Given the description of an element on the screen output the (x, y) to click on. 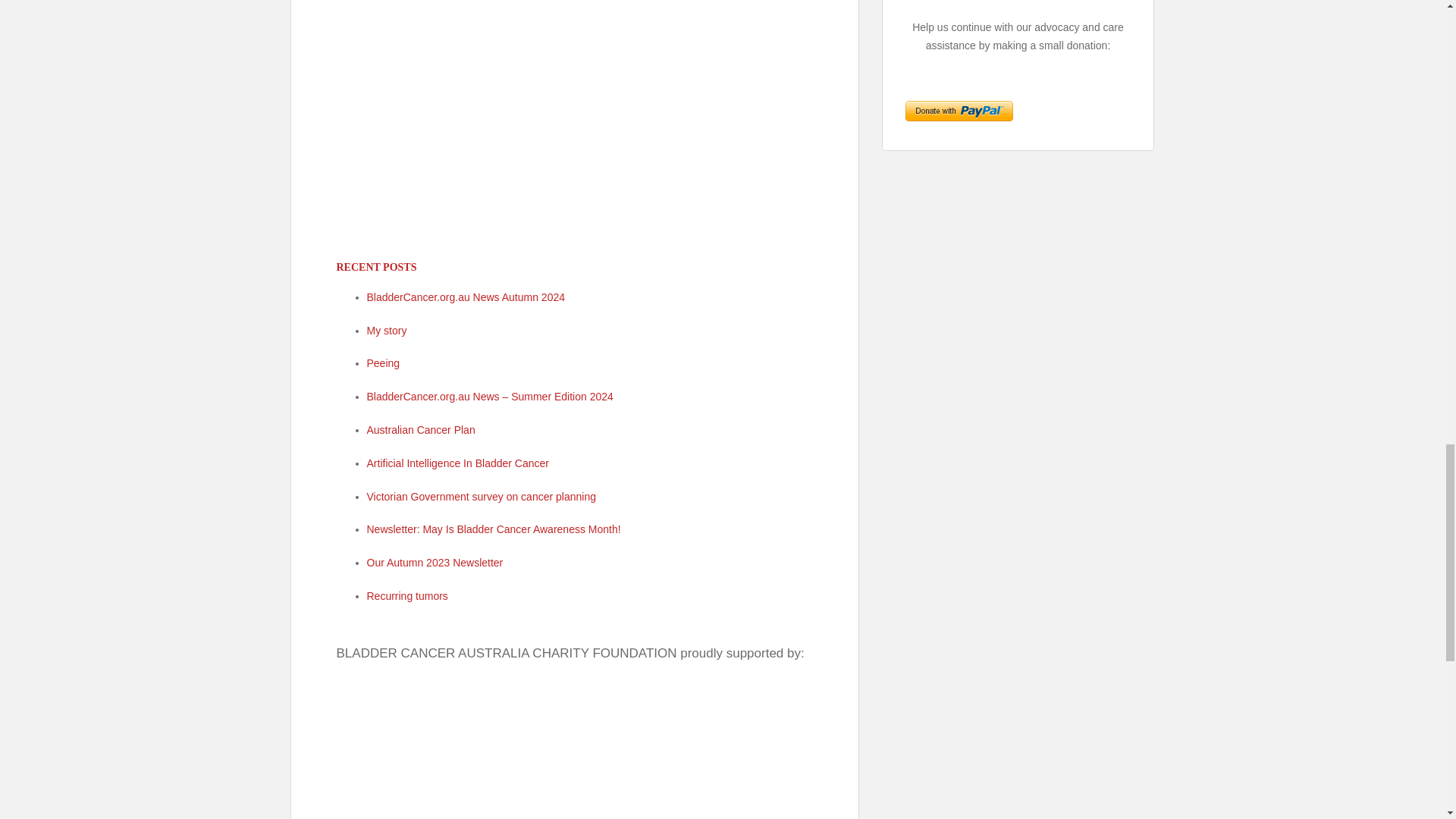
BladderCancer.org.au News Autumn 2024 (466, 297)
Peeing (383, 363)
My story (386, 330)
